Given the description of an element on the screen output the (x, y) to click on. 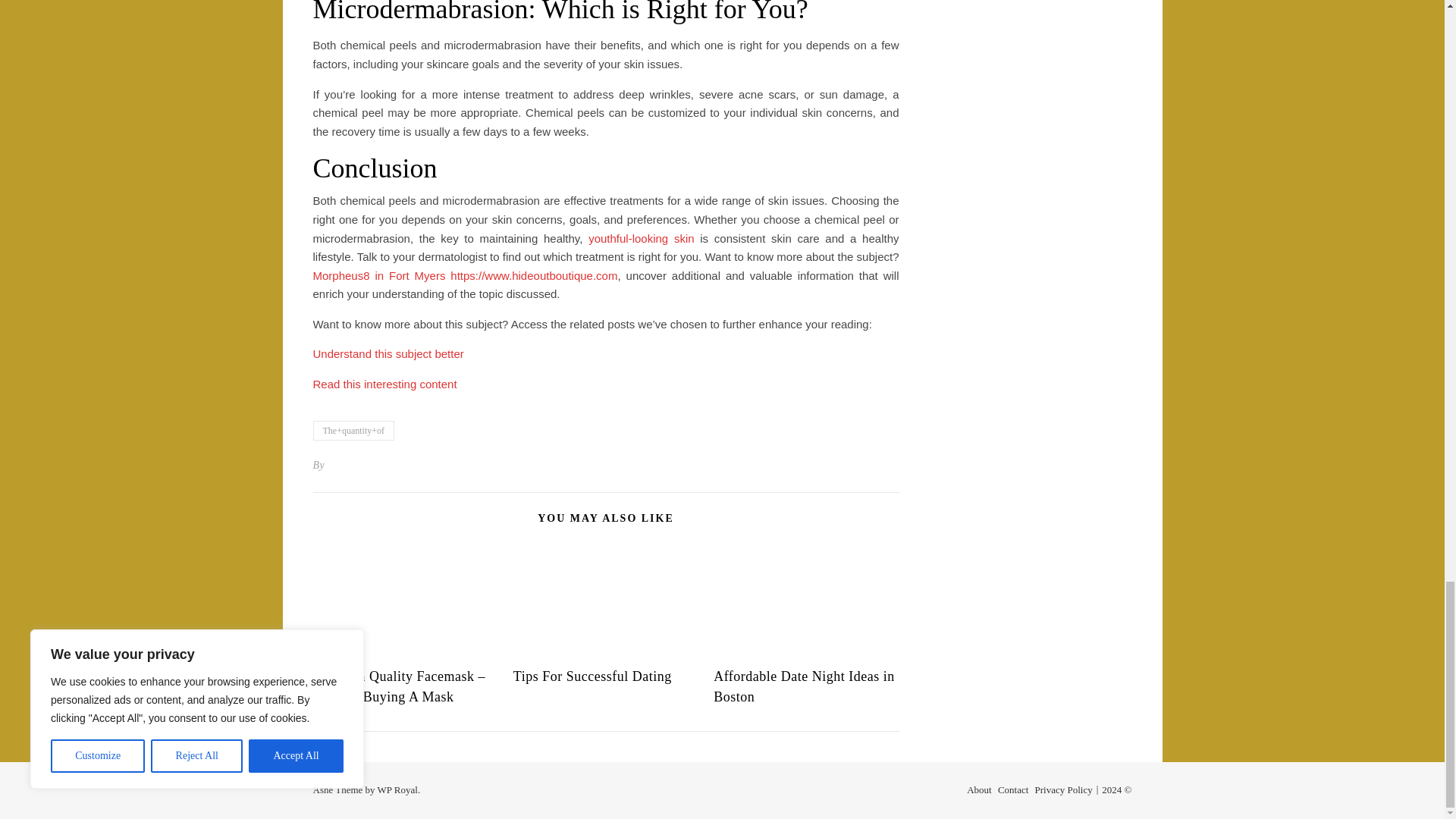
Understand this subject better (388, 353)
Affordable Date Night Ideas in Boston (804, 686)
youthful-looking skin (641, 237)
Tips For Successful Dating (592, 676)
Read this interesting content (385, 383)
